Given the description of an element on the screen output the (x, y) to click on. 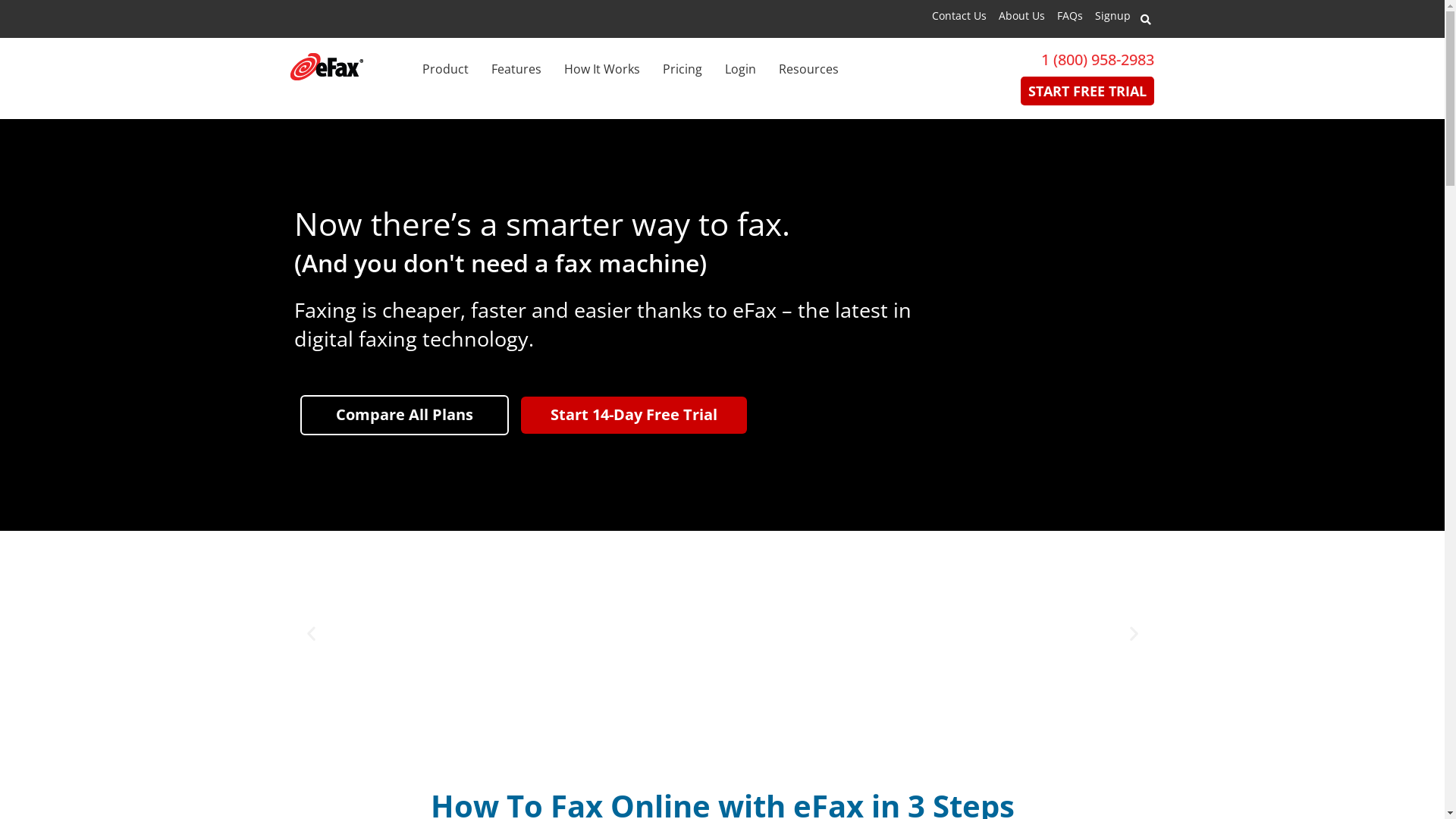
About Us Element type: text (1020, 15)
Compare All Plans Element type: text (404, 415)
Start 14-Day Free Trial Element type: text (633, 414)
Product Element type: text (444, 69)
START FREE TRIAL Element type: text (1087, 90)
Pricing Element type: text (682, 69)
Features Element type: text (516, 69)
Contact Us Element type: text (958, 15)
FAQs Element type: text (1069, 15)
Signup Element type: text (1112, 15)
1 (800) 958-2983 Element type: text (1097, 59)
How It Works Element type: text (601, 69)
Resources Element type: text (807, 69)
Login Element type: text (740, 69)
